Given the description of an element on the screen output the (x, y) to click on. 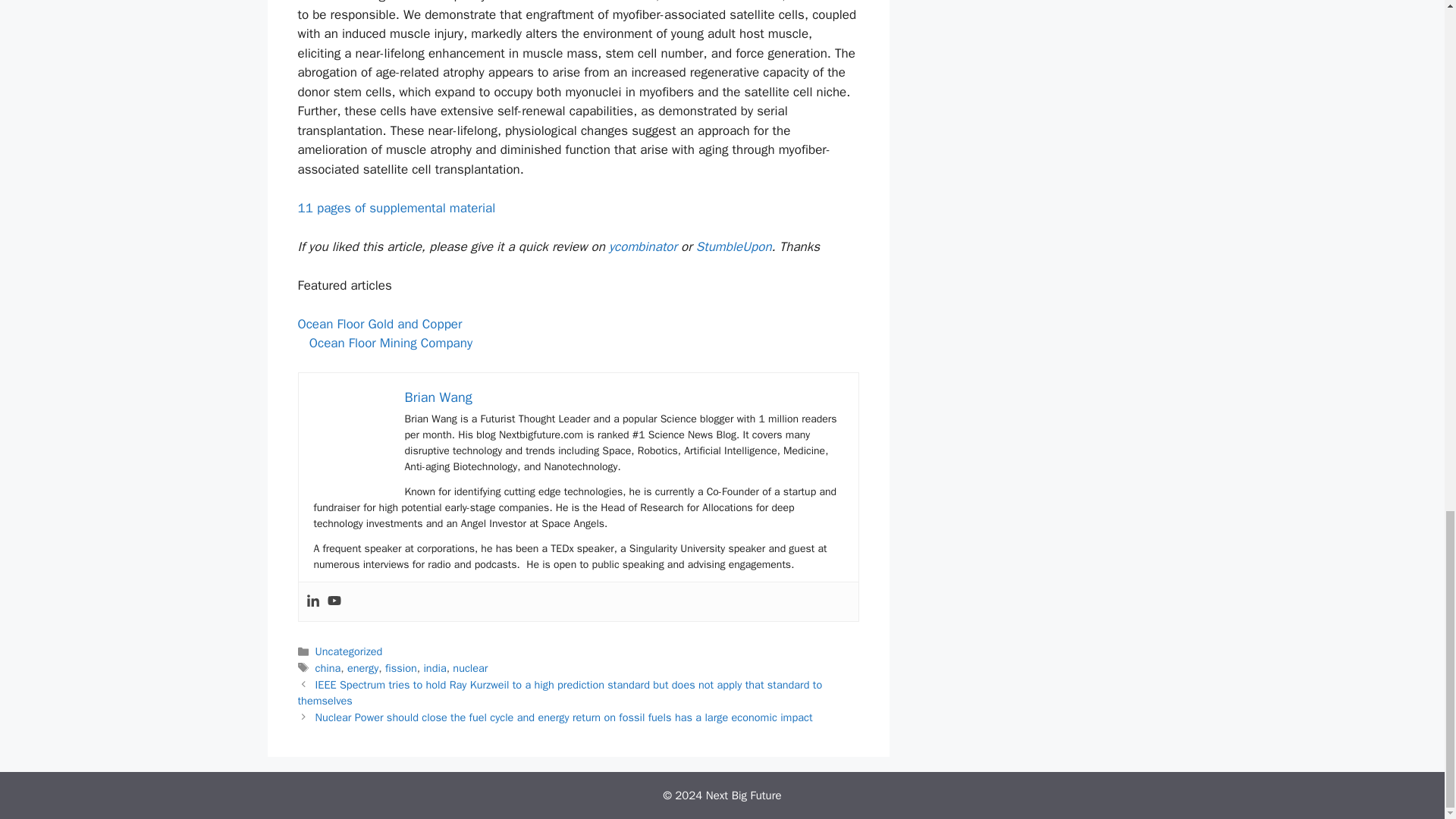
Ocean Floor Mining Company (389, 342)
Ocean Floor Gold and Copper (379, 324)
StumbleUpon (733, 246)
india (434, 667)
china (327, 667)
Brian Wang (437, 397)
fission (400, 667)
Uncategorized (348, 651)
